Given the description of an element on the screen output the (x, y) to click on. 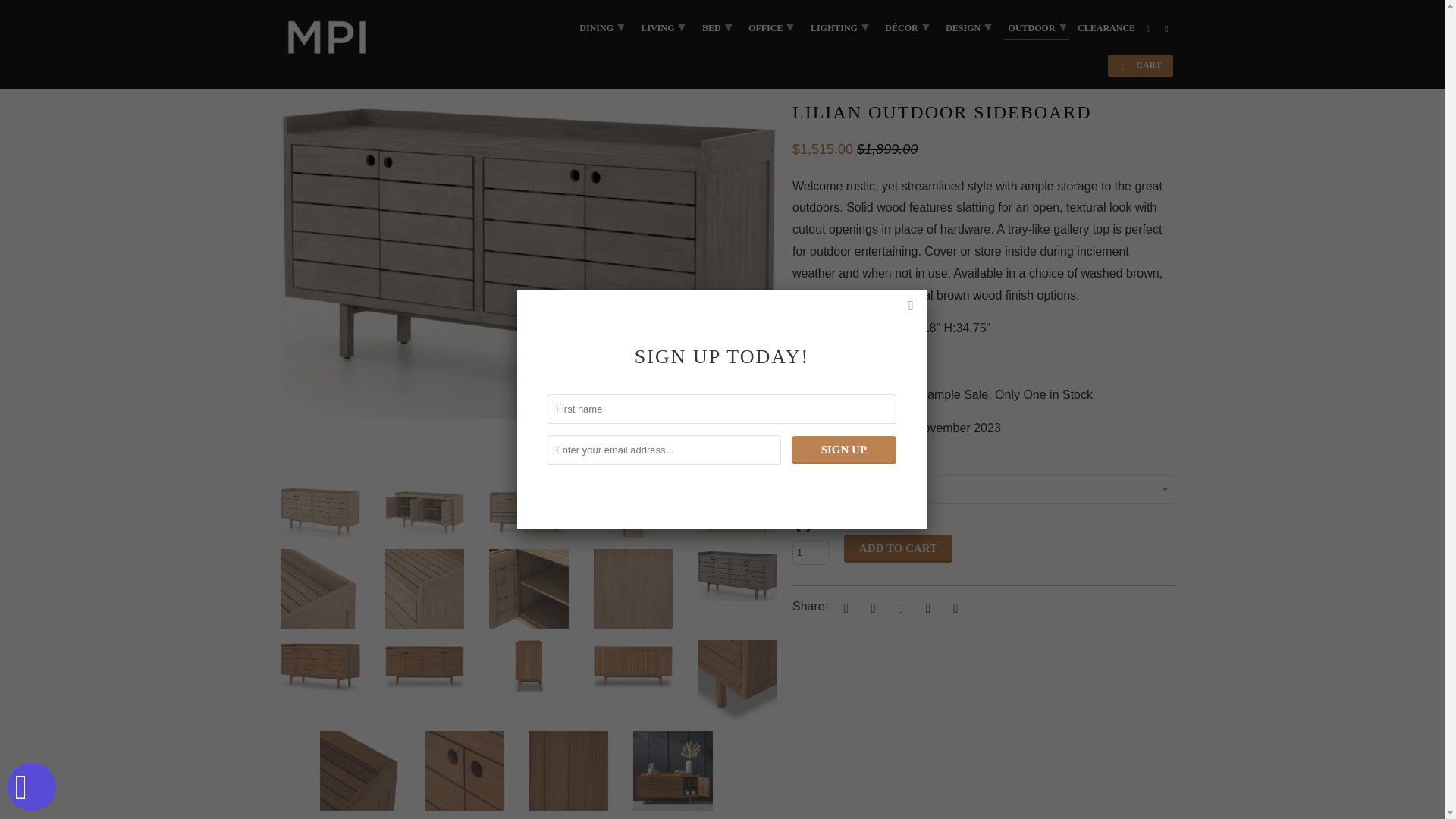
1 (810, 552)
Sign Up (844, 449)
Outdoor - Storage (378, 62)
marcopolo-imports (296, 62)
